Given the description of an element on the screen output the (x, y) to click on. 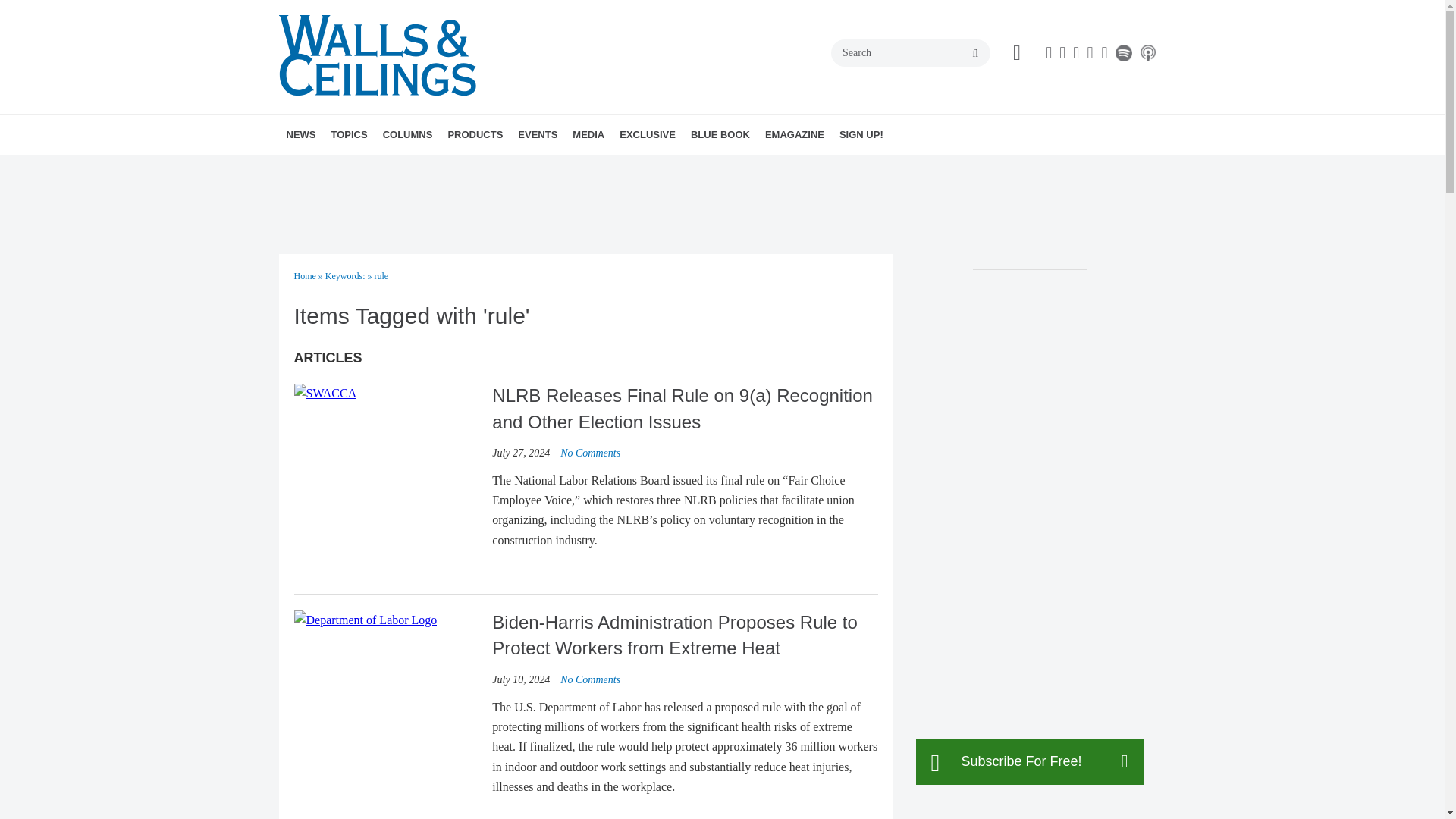
WOMEN IN CONSTRUCTION (464, 167)
Department of Labor Logo (366, 619)
INSULATION (454, 167)
INDUSTRY VOICES (483, 167)
STUCCO STOP (488, 167)
Search (910, 52)
TOPICS (348, 134)
EXTERIOR (462, 167)
TOOLS AND SOFTWARE (457, 167)
COLUMNS (408, 134)
DRYWALL (417, 167)
SWACCA (325, 393)
INTERIOR (459, 167)
search (975, 53)
